Given the description of an element on the screen output the (x, y) to click on. 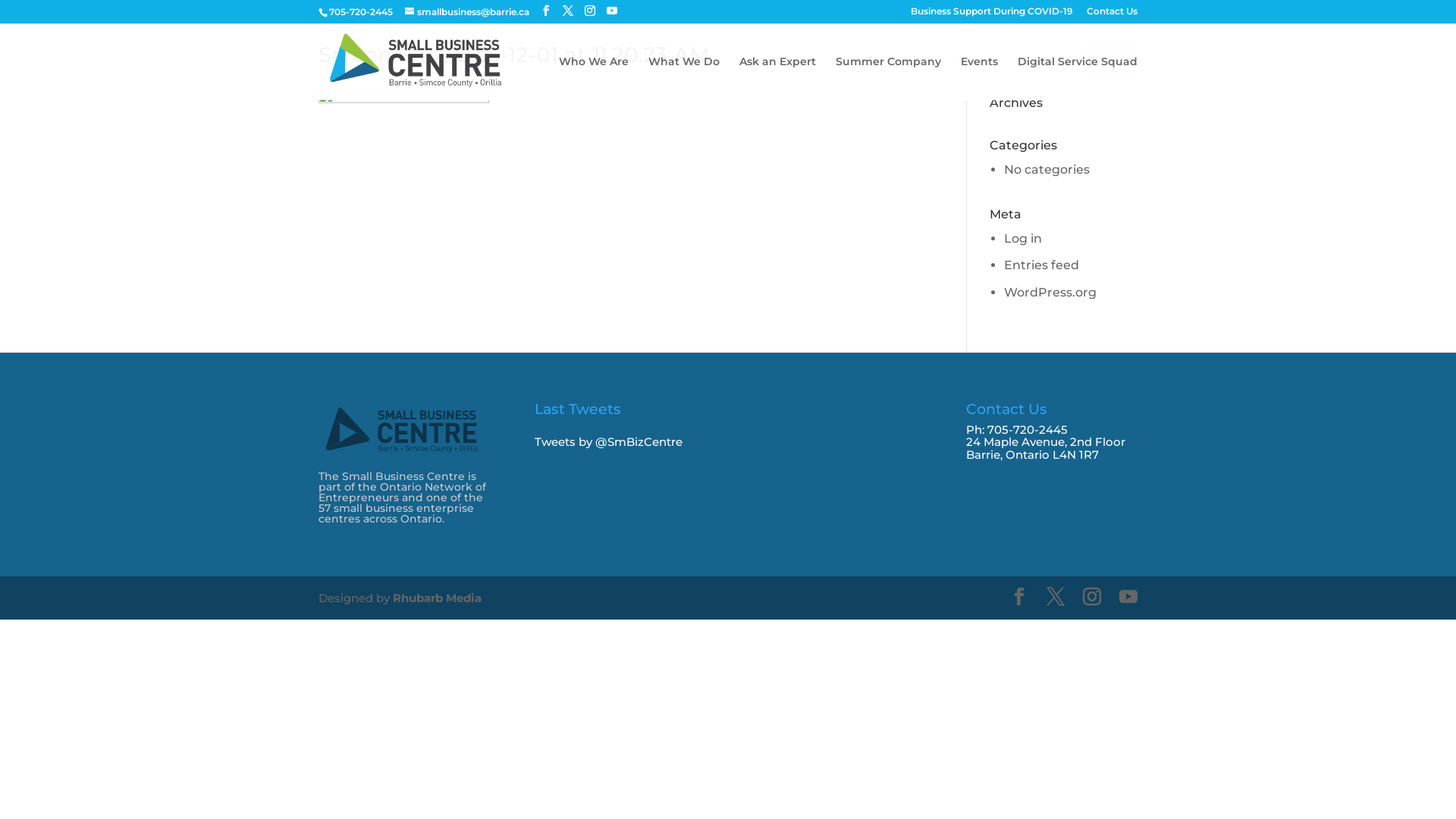
Summer Company Element type: text (888, 78)
Contact Us Element type: text (1111, 14)
Events Element type: text (978, 78)
Rhubarb Media Element type: text (436, 597)
What We Do Element type: text (683, 78)
Search Element type: text (1110, 58)
smallbusiness@barrie.ca Element type: text (466, 11)
Ask an Expert Element type: text (777, 78)
Log in Element type: text (1022, 238)
Business Support During COVID-19 Element type: text (991, 14)
Digital Service Squad Element type: text (1077, 78)
Tweets by @SmBizCentre Element type: text (608, 441)
Entries feed Element type: text (1041, 264)
Who We Are Element type: text (593, 78)
WordPress.org Element type: text (1050, 292)
